Given the description of an element on the screen output the (x, y) to click on. 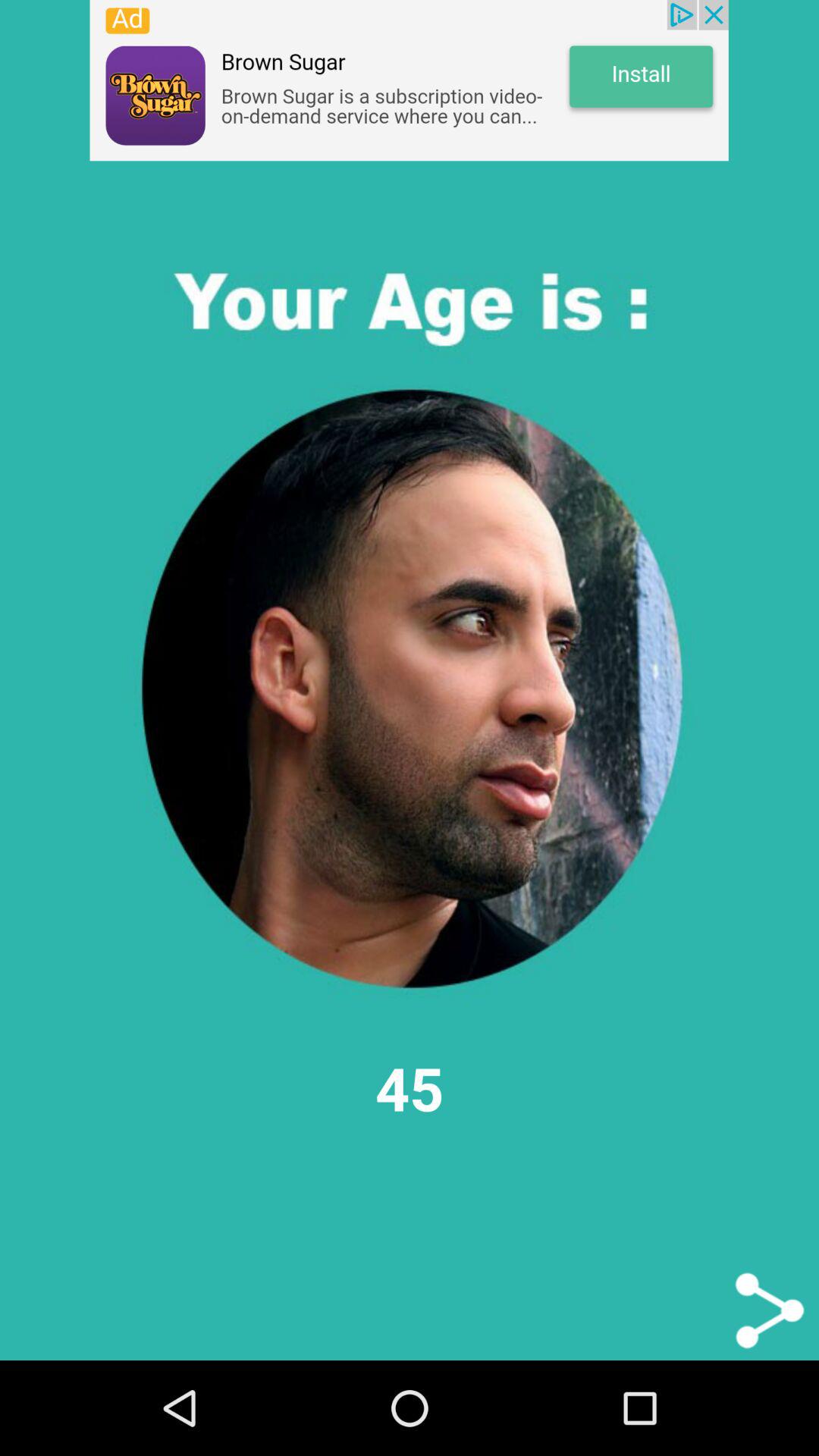
share option (769, 1310)
